Given the description of an element on the screen output the (x, y) to click on. 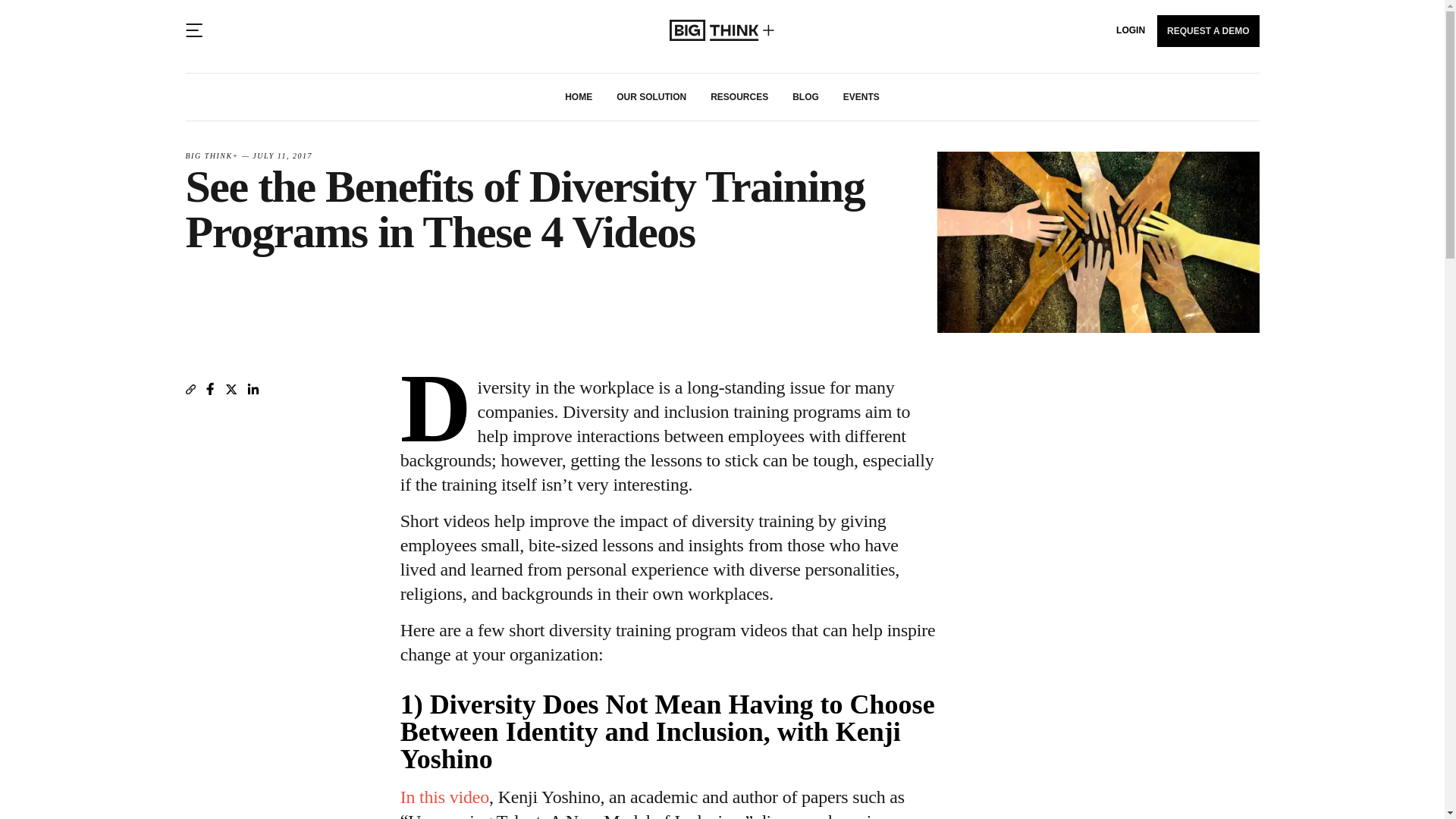
RESOURCES (739, 96)
Return to homepage (721, 29)
EVENTS (861, 96)
REQUEST A DEMO (1208, 30)
LOGIN (1130, 30)
OUR SOLUTION (650, 96)
In this video (444, 796)
Open the Main Navigation (193, 29)
